Given the description of an element on the screen output the (x, y) to click on. 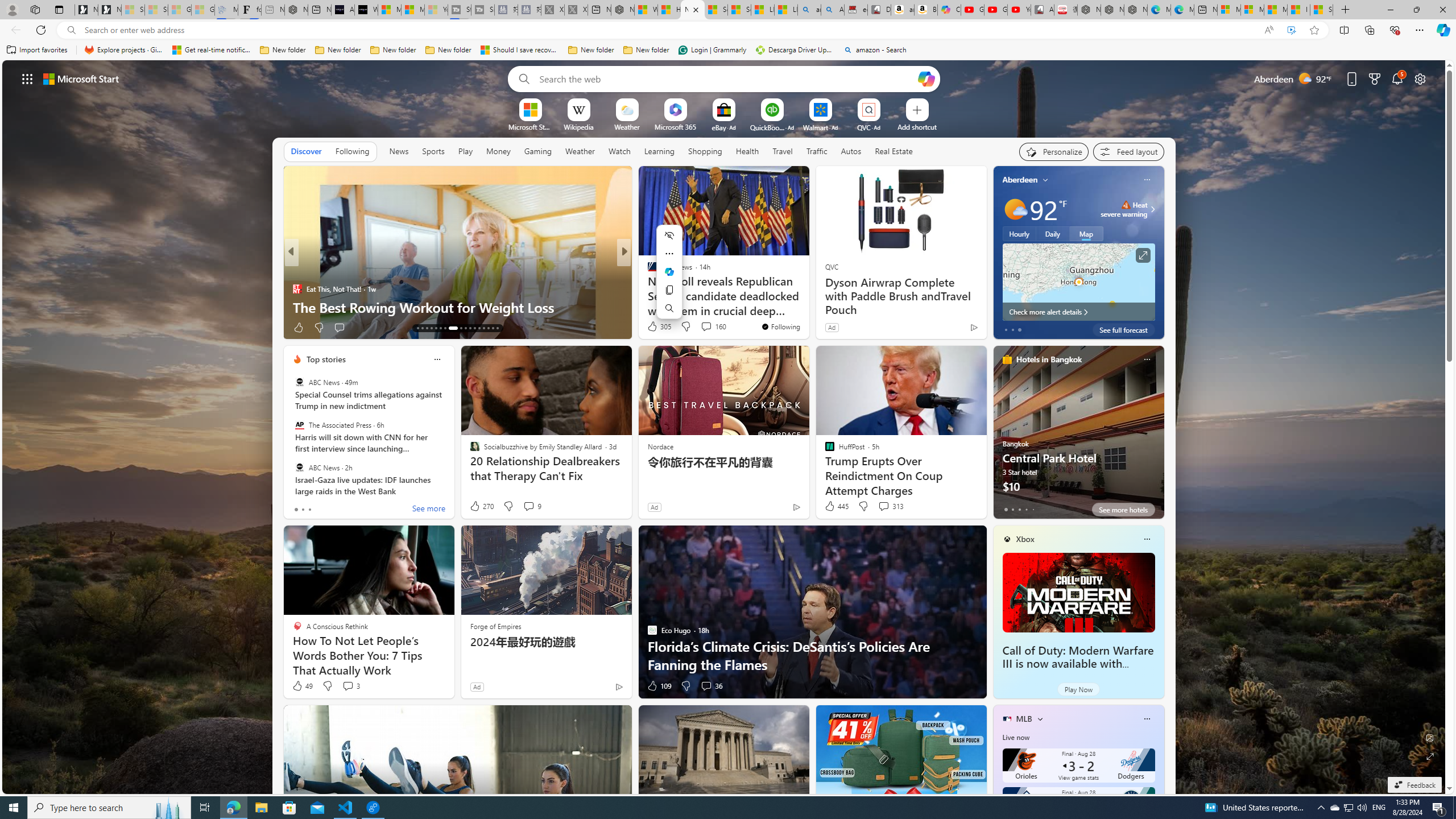
Amazon Echo Dot PNG - Search Images (832, 9)
AutomationID: tab-40 (483, 328)
View comments 107 Comment (703, 327)
Play Now (1078, 689)
Hide this story (774, 179)
AutomationID: tab-13 (417, 328)
20 Like (652, 327)
Microsoft rewards (1374, 78)
My location (1045, 179)
Gaming (537, 151)
Refresh (40, 29)
View comments 313 Comment (883, 505)
AutomationID: tab-43 (497, 328)
